Given the description of an element on the screen output the (x, y) to click on. 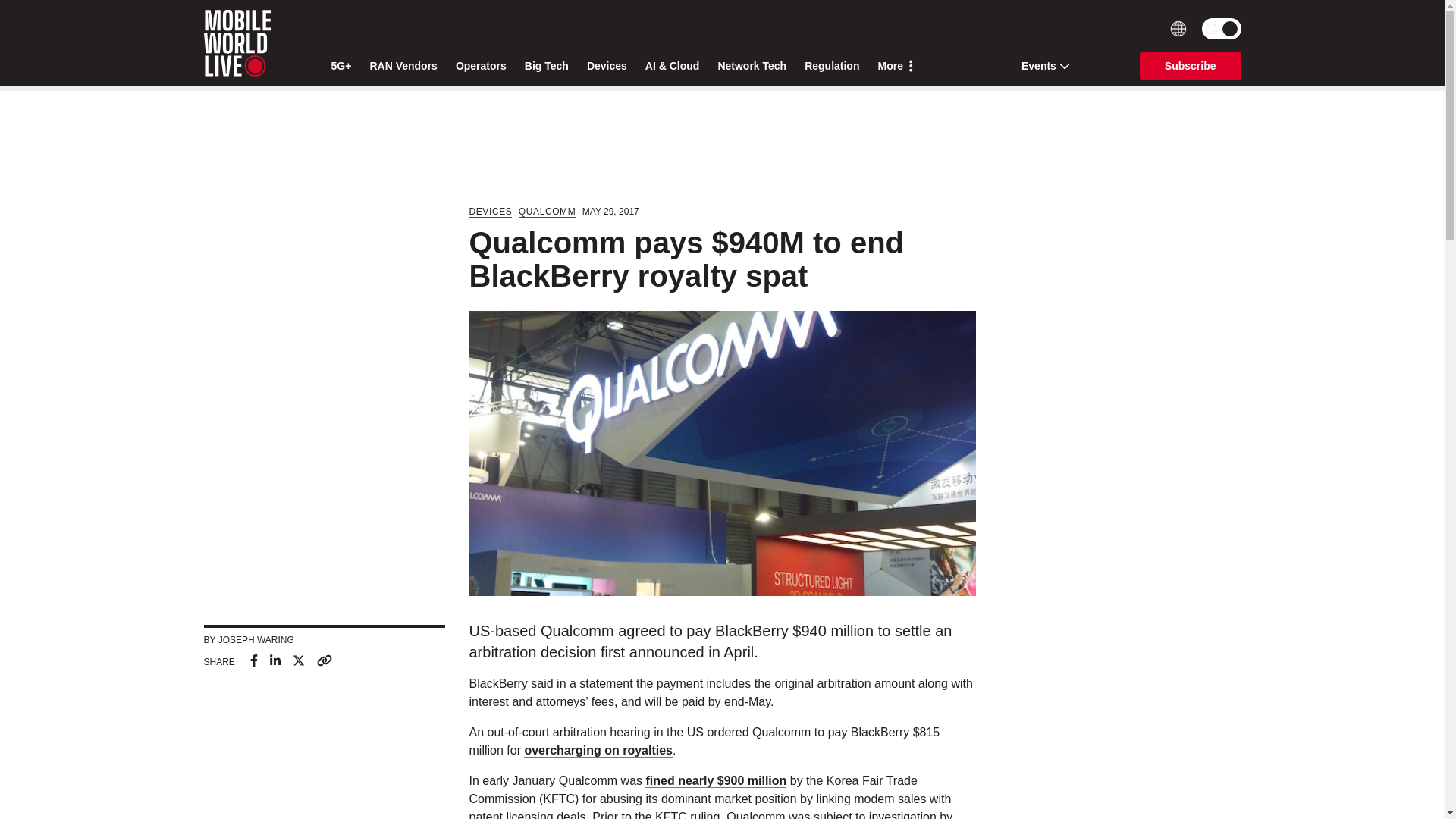
Big Tech (546, 65)
Operators (480, 65)
Subscribe (1190, 65)
Network Tech (751, 65)
Events (1040, 65)
Regulation (832, 65)
Devices (606, 65)
RAN Vendors (402, 65)
